Given the description of an element on the screen output the (x, y) to click on. 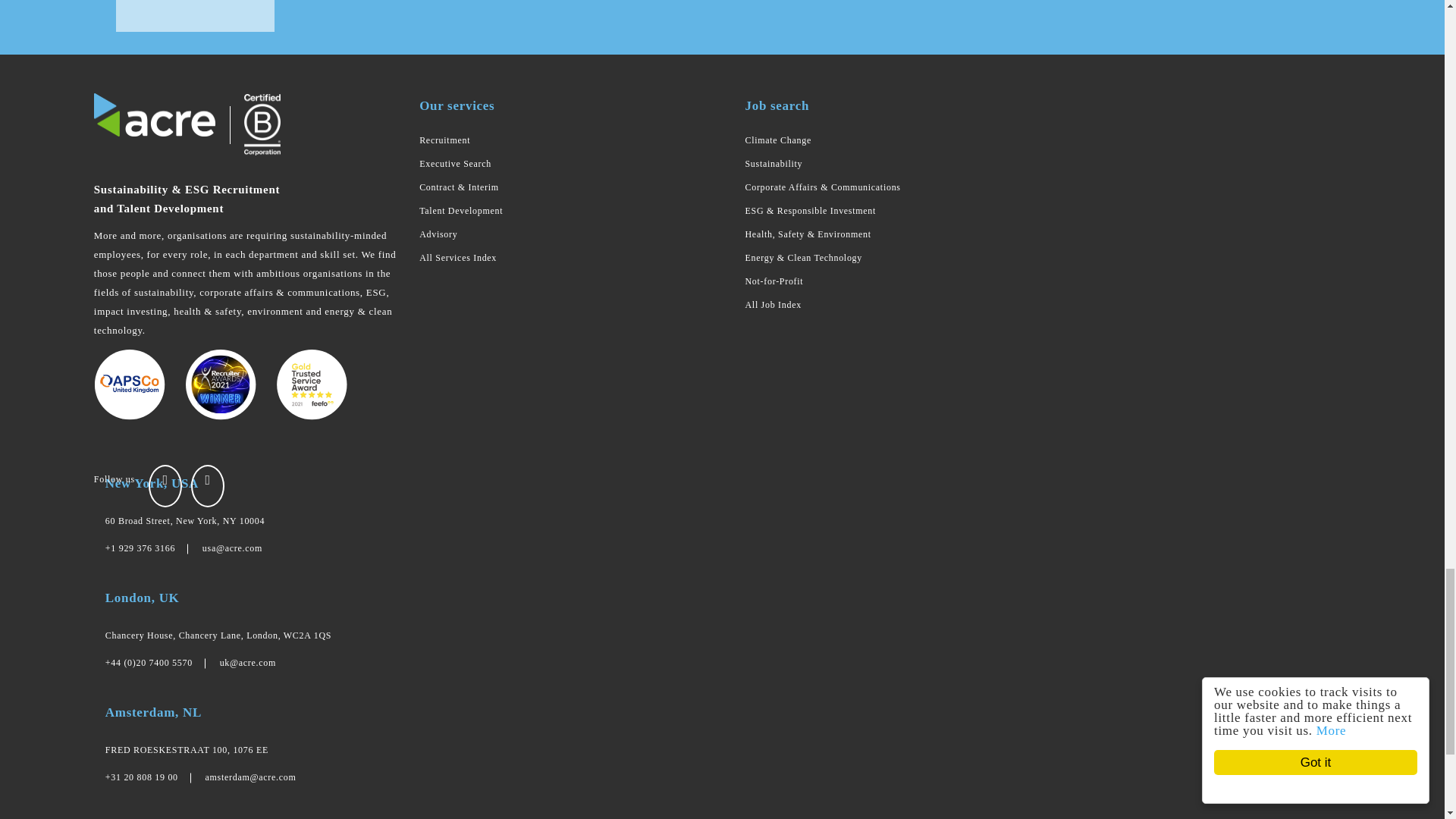
Email (251, 777)
Go to the Homepage (154, 115)
Email (232, 547)
Email (247, 662)
